Given the description of an element on the screen output the (x, y) to click on. 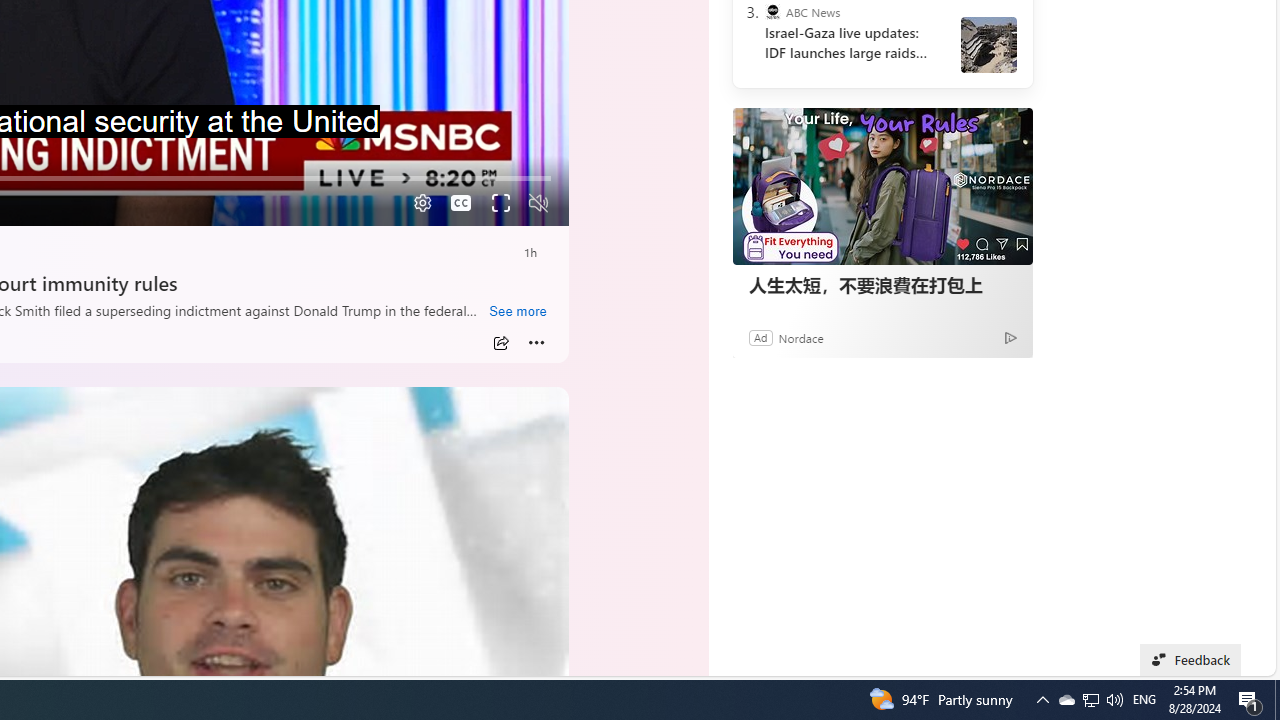
See more (517, 312)
Share (501, 343)
Captions (461, 203)
Ad Choice (1010, 336)
